Given the description of an element on the screen output the (x, y) to click on. 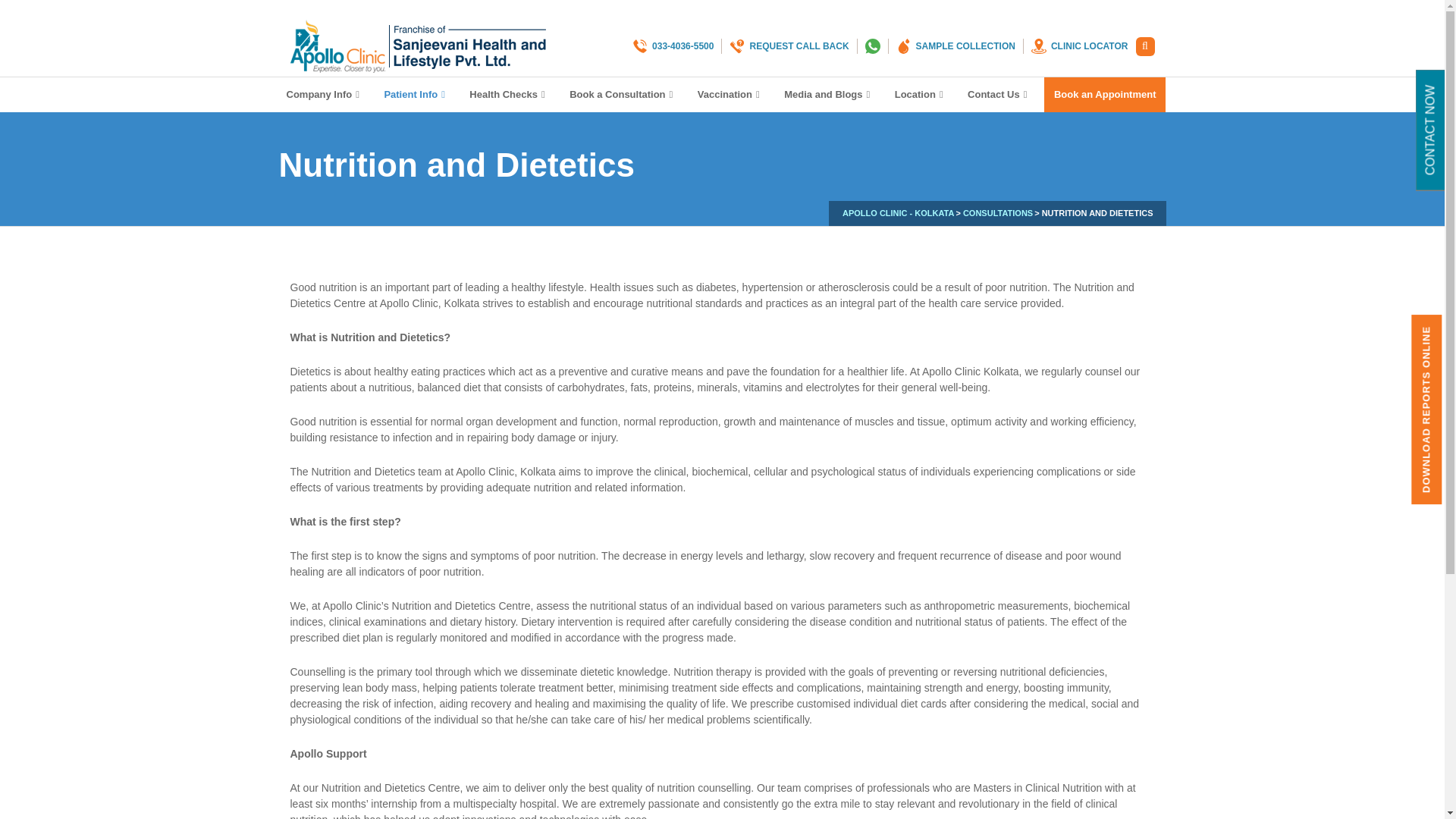
Go to Apollo Clinic - Kolkata. (898, 212)
SAMPLE COLLECTION (951, 46)
Company Info (325, 94)
033-4036-5500 (672, 46)
CLINIC LOCATOR (1075, 46)
Patient Info (415, 94)
whatsapp (868, 46)
Go to Consultations. (997, 212)
REQUEST CALL BACK (784, 46)
